Given the description of an element on the screen output the (x, y) to click on. 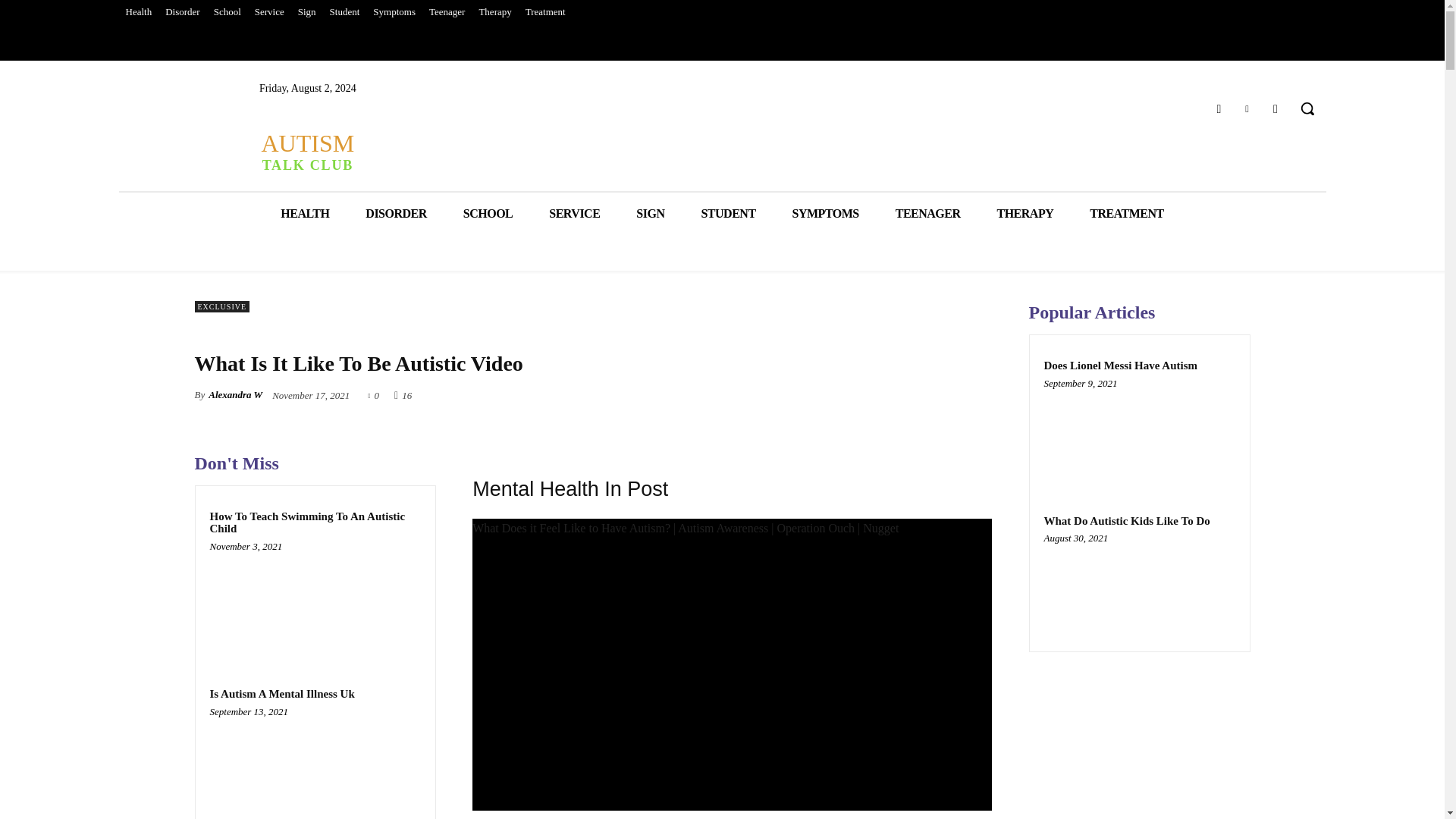
Treatment (545, 12)
Disorder (182, 12)
Service (269, 12)
DISORDER (395, 213)
SCHOOL (488, 213)
Therapy (494, 12)
Student (344, 12)
How To Teach Swimming To An Autistic Child (306, 522)
Youtube (1275, 108)
Sign (307, 12)
